Given the description of an element on the screen output the (x, y) to click on. 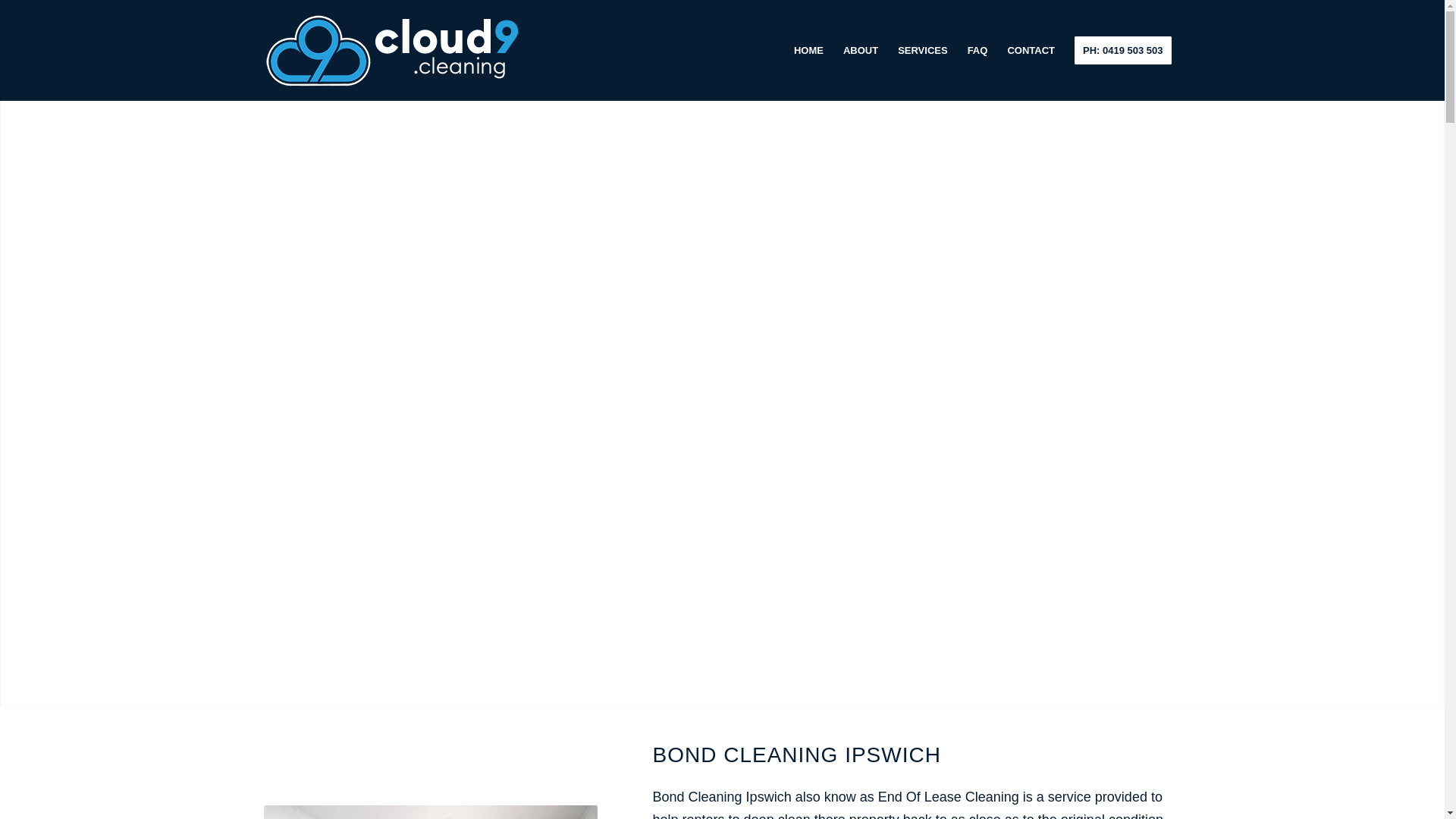
PH: 0419 503 503 (1122, 49)
cloud9-logo-web (392, 49)
bond-cleaning-ipswich (429, 812)
